Given the description of an element on the screen output the (x, y) to click on. 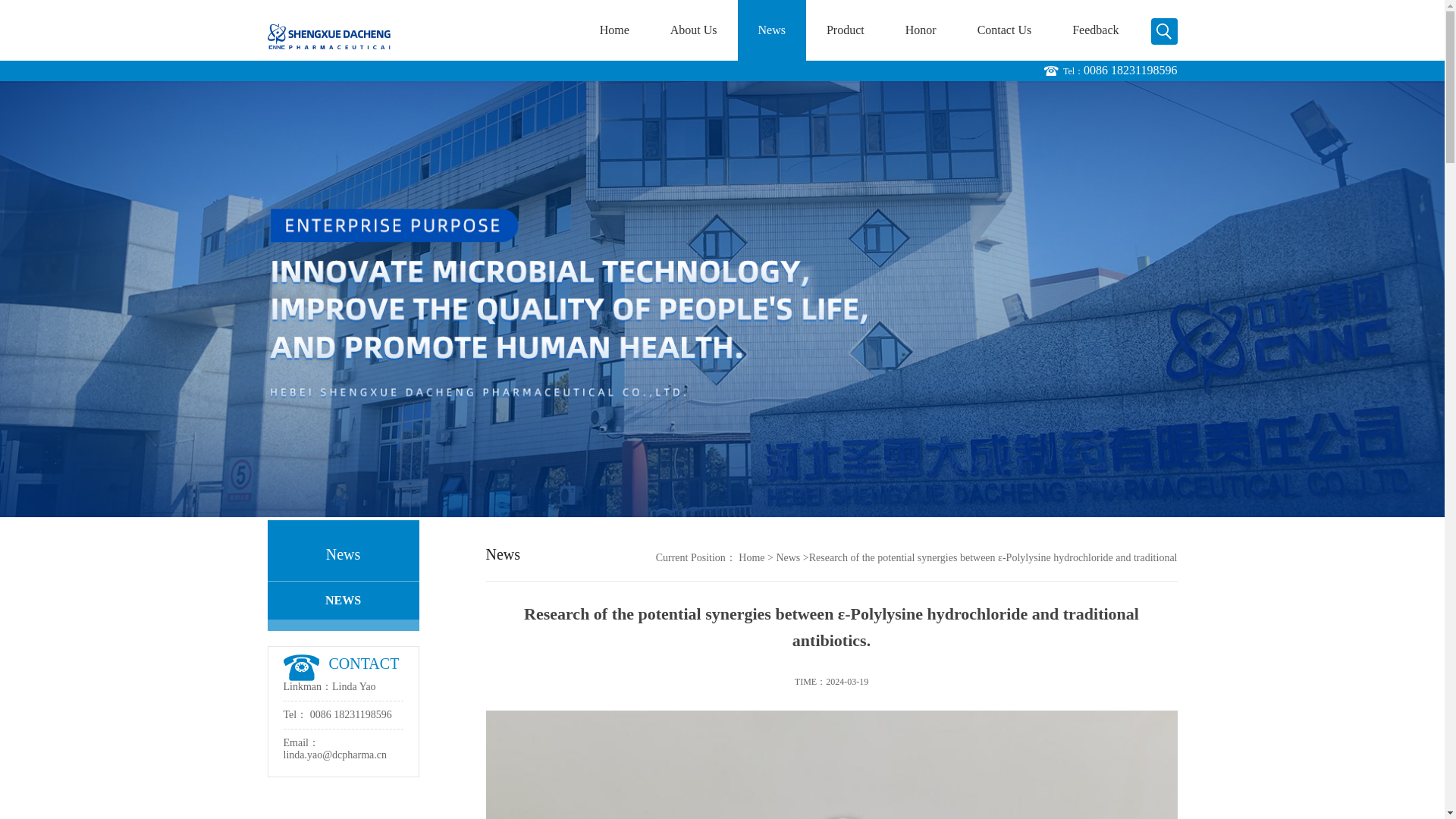
About Us (693, 30)
Honor (920, 30)
Contact Us (1004, 30)
0086 18231198596 (1129, 72)
NEWS (328, 600)
News (772, 30)
Home (793, 557)
Home (752, 557)
News (825, 557)
Feedback (1094, 30)
0086 18231198596 (337, 714)
Product (845, 30)
Nisin Manufacturer and Supplier-Dacheng Pharma (328, 30)
Home (614, 30)
